Given the description of an element on the screen output the (x, y) to click on. 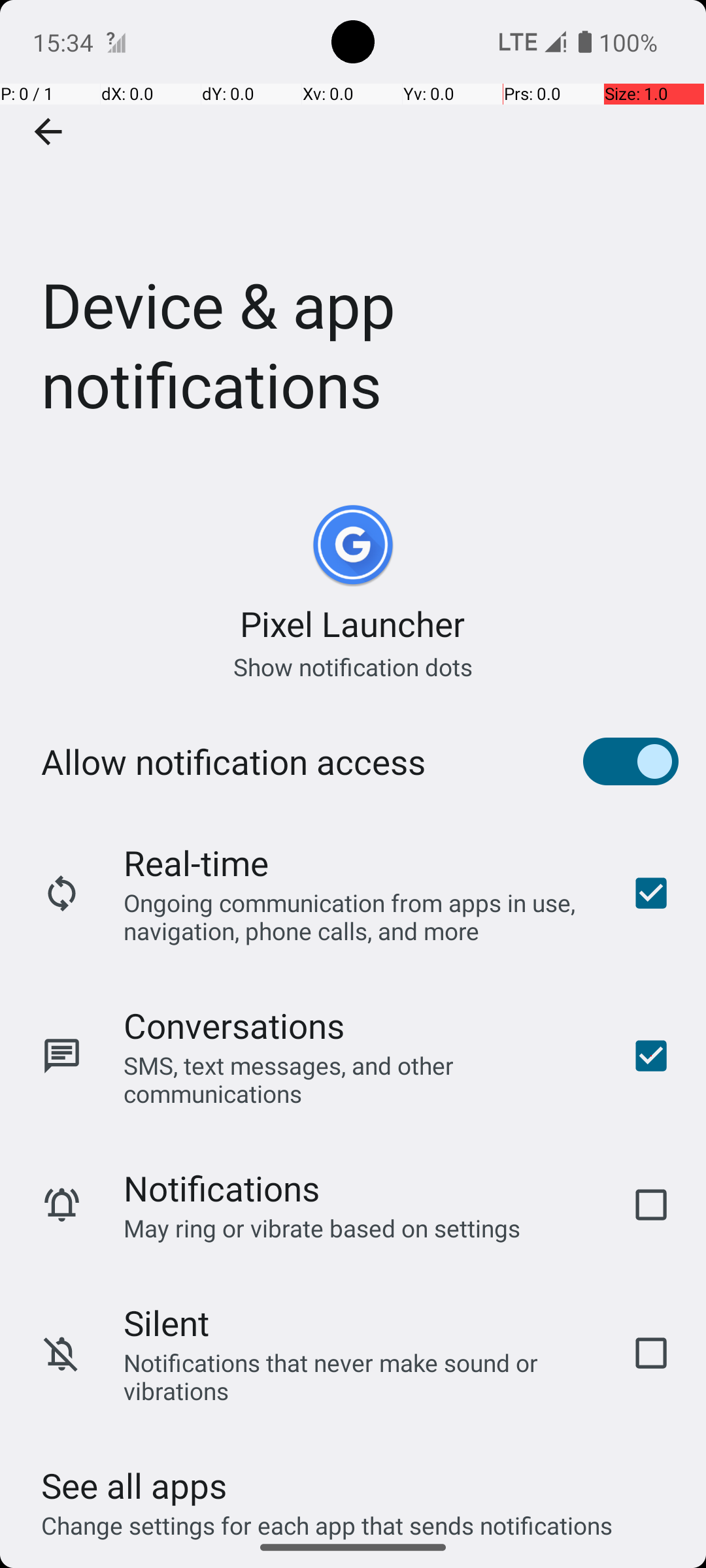
Pixel Launcher Element type: android.widget.TextView (352, 623)
Show notification dots Element type: android.widget.TextView (352, 666)
Allow notification access Element type: android.widget.TextView (233, 761)
Real-time Element type: android.widget.TextView (195, 862)
Ongoing communication from apps in use, navigation, phone calls, and more Element type: android.widget.TextView (359, 916)
SMS, text messages, and other communications Element type: android.widget.TextView (359, 1079)
May ring or vibrate based on settings Element type: android.widget.TextView (322, 1227)
Silent Element type: android.widget.TextView (166, 1322)
Notifications that never make sound or vibrations Element type: android.widget.TextView (359, 1376)
See all apps Element type: android.widget.TextView (133, 1485)
Change settings for each app that sends notifications Element type: android.widget.TextView (326, 1517)
